Given the description of an element on the screen output the (x, y) to click on. 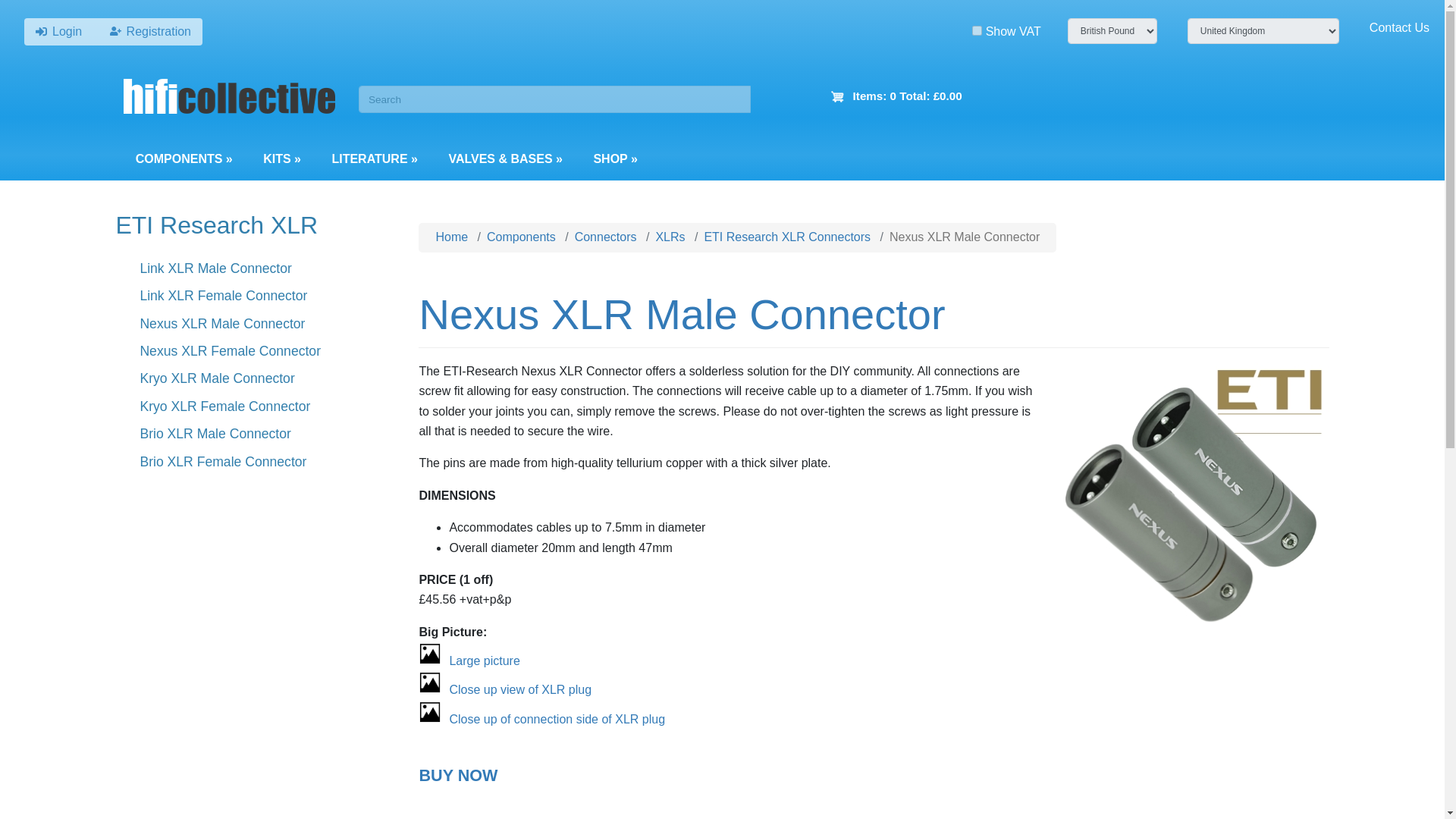
Open image in new window (556, 718)
Open image in new window (519, 689)
Contact Us (1399, 27)
Login (59, 31)
Open image in new window (483, 660)
Home (229, 98)
1 (976, 30)
Registration (150, 31)
Submit (29, 15)
